Given the description of an element on the screen output the (x, y) to click on. 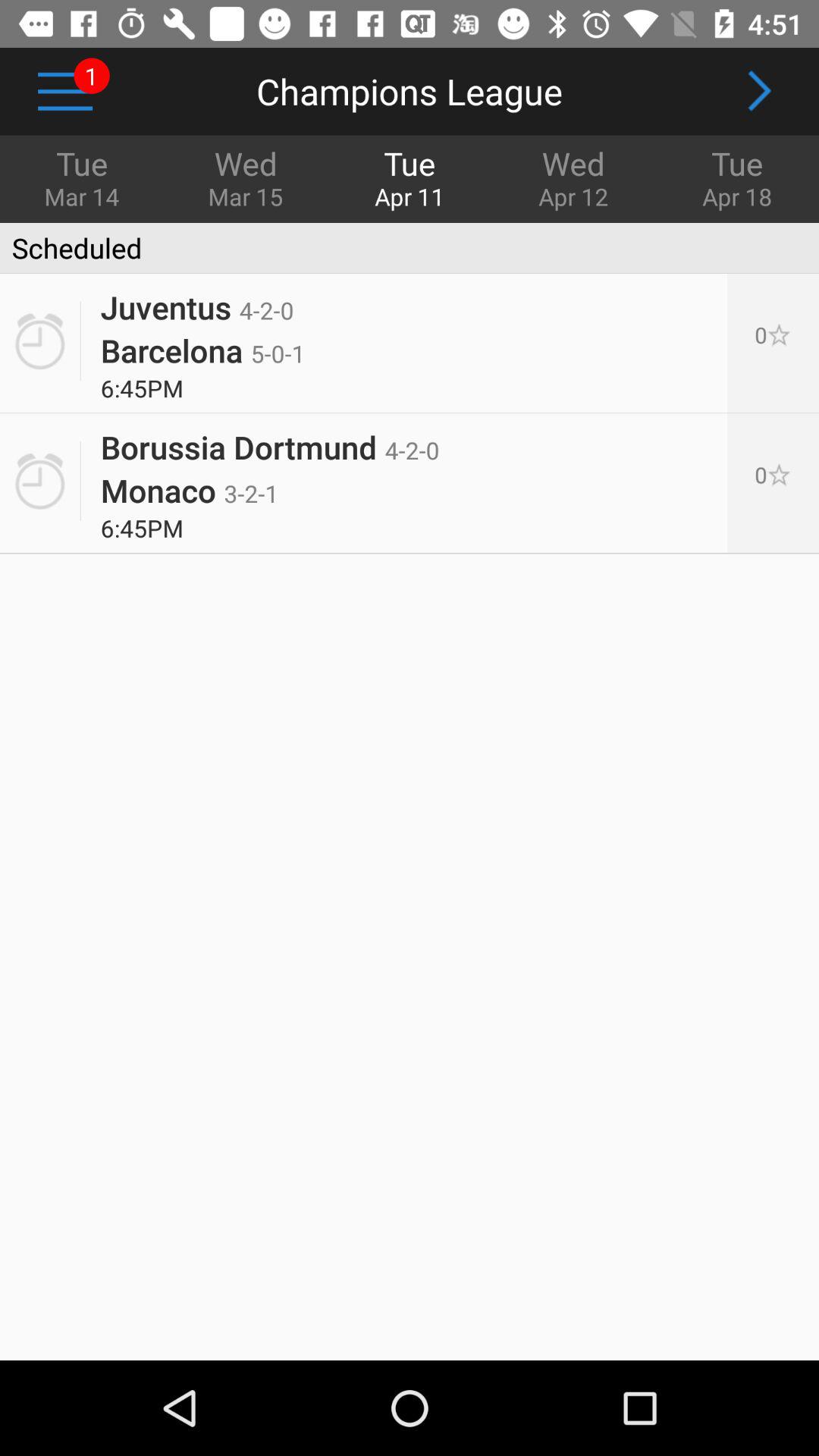
select icon next to wed
mar 15 item (64, 91)
